Given the description of an element on the screen output the (x, y) to click on. 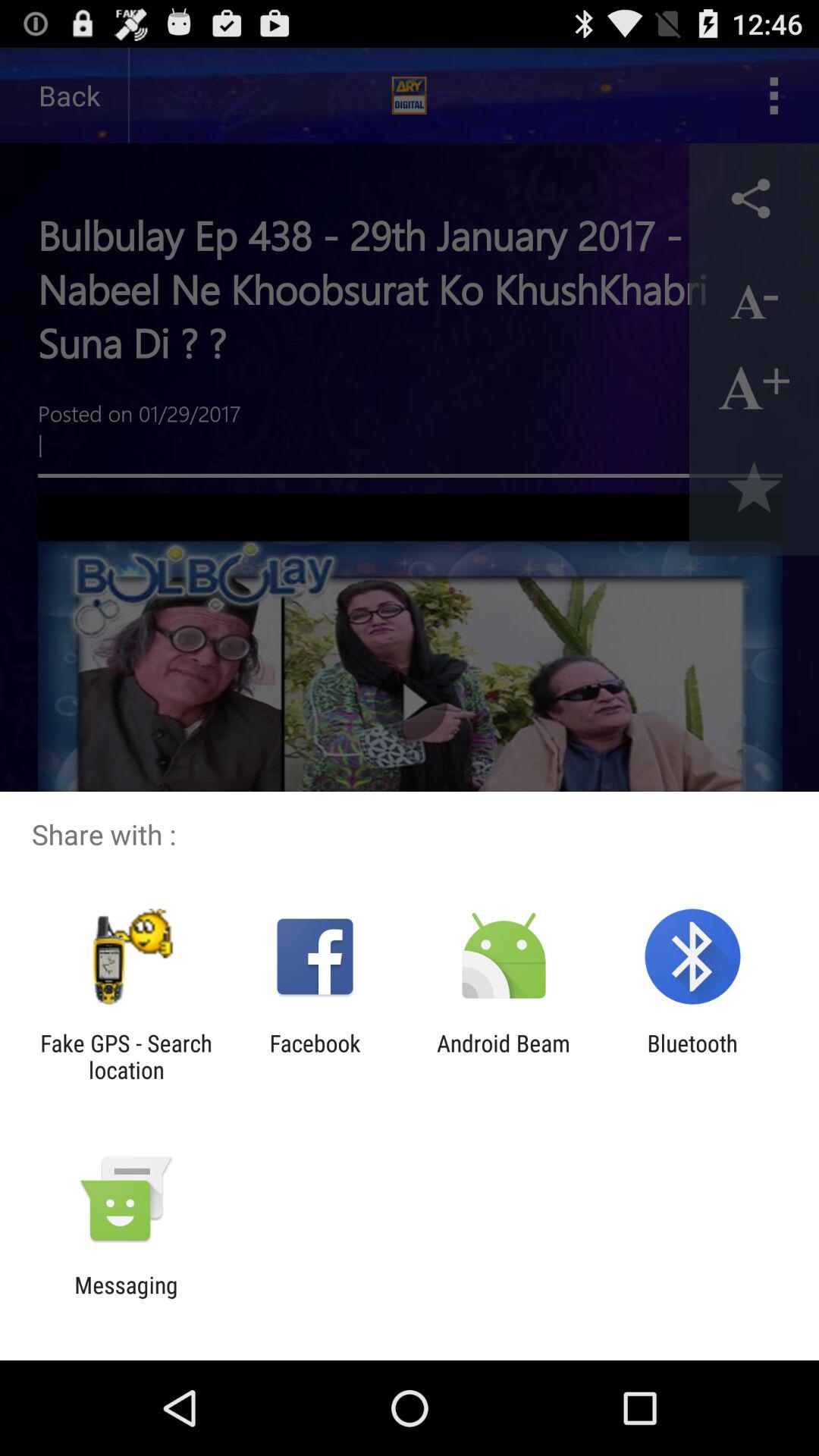
jump to the bluetooth item (692, 1056)
